Given the description of an element on the screen output the (x, y) to click on. 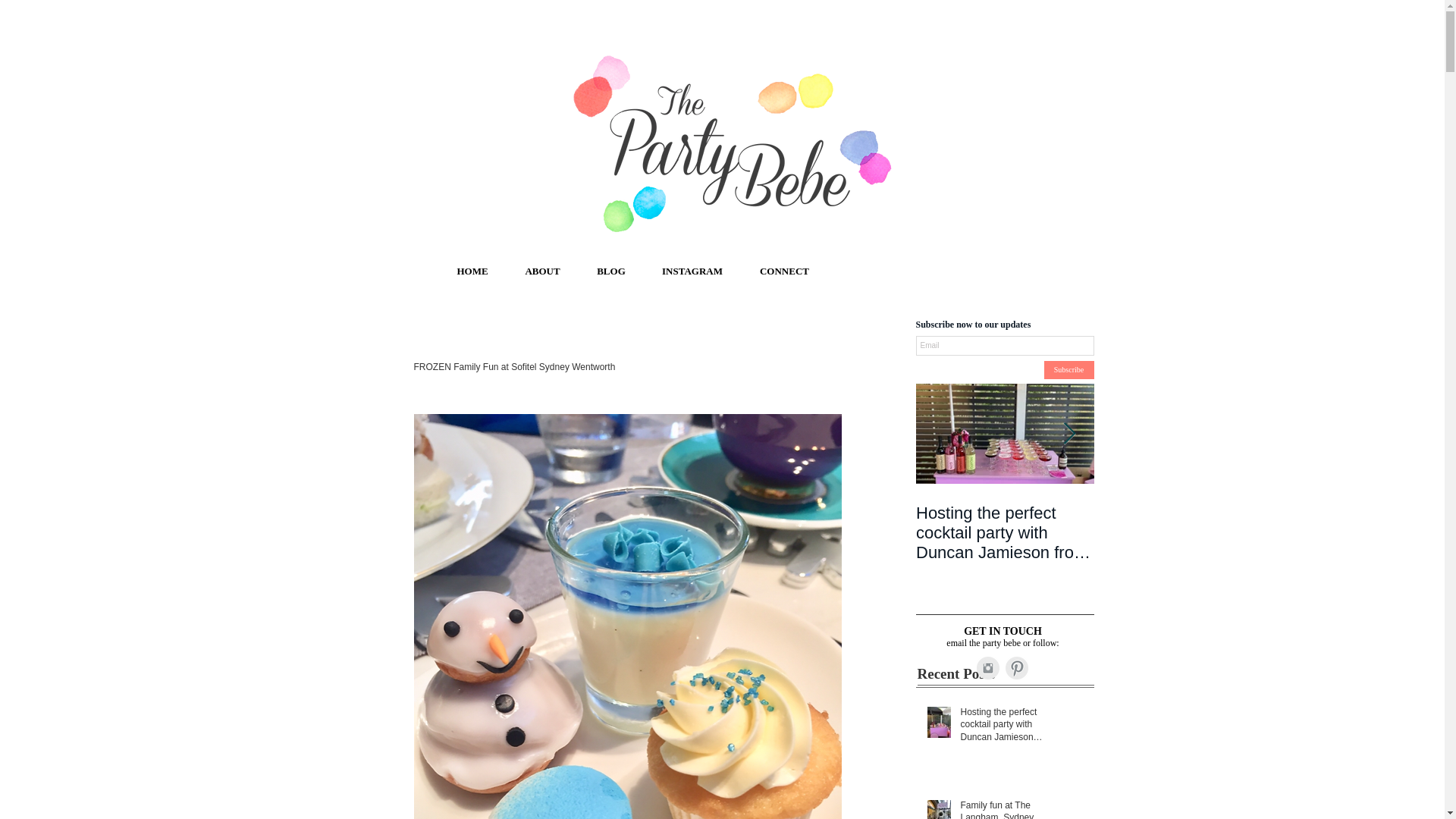
Family fun at The Langham, Sydney (1005, 809)
CONNECT (783, 271)
HOME (472, 271)
BLOG (610, 271)
INSTAGRAM (691, 271)
ABOUT (542, 271)
